Given the description of an element on the screen output the (x, y) to click on. 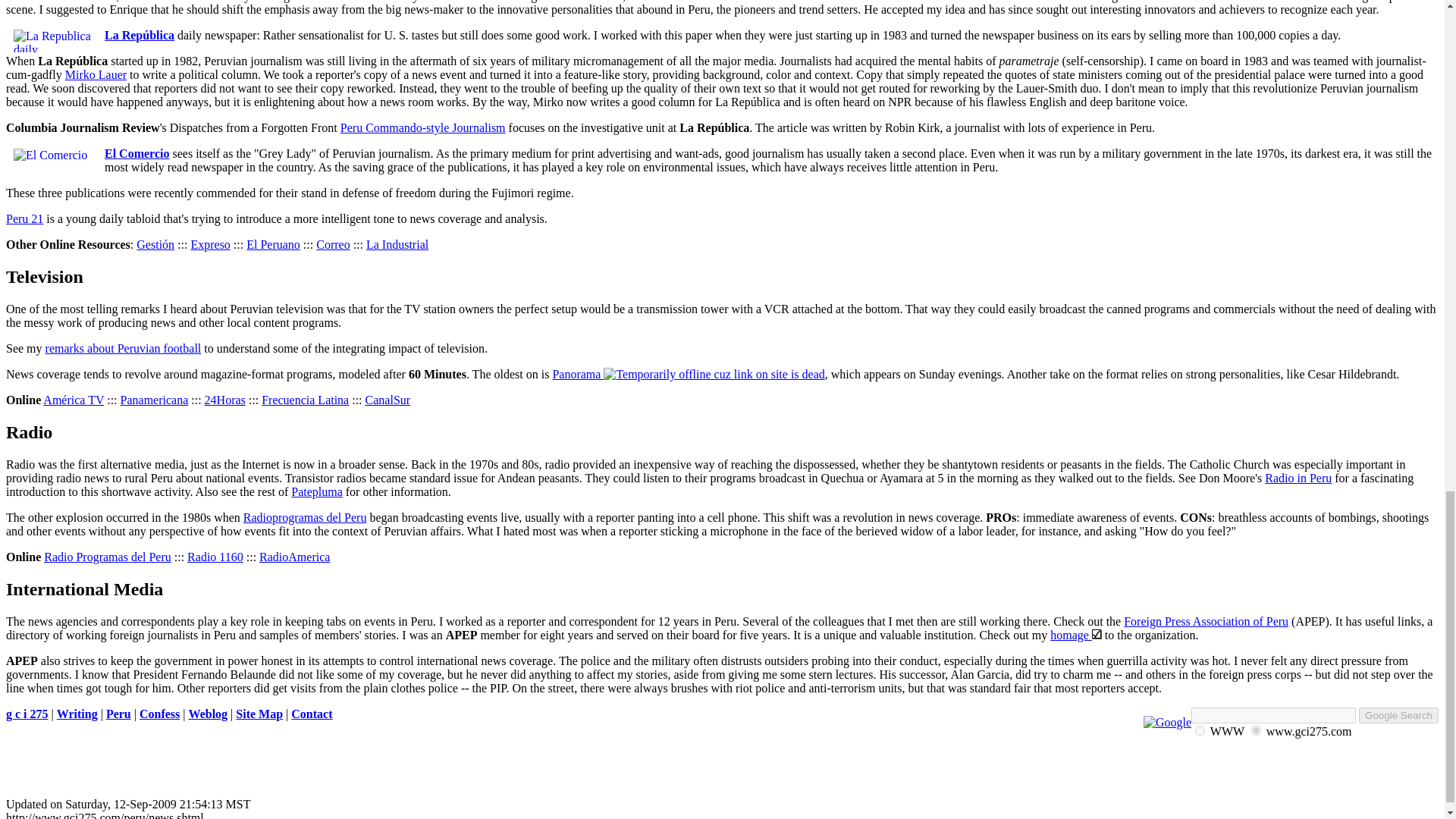
www.gci275.com (1255, 730)
